Given the description of an element on the screen output the (x, y) to click on. 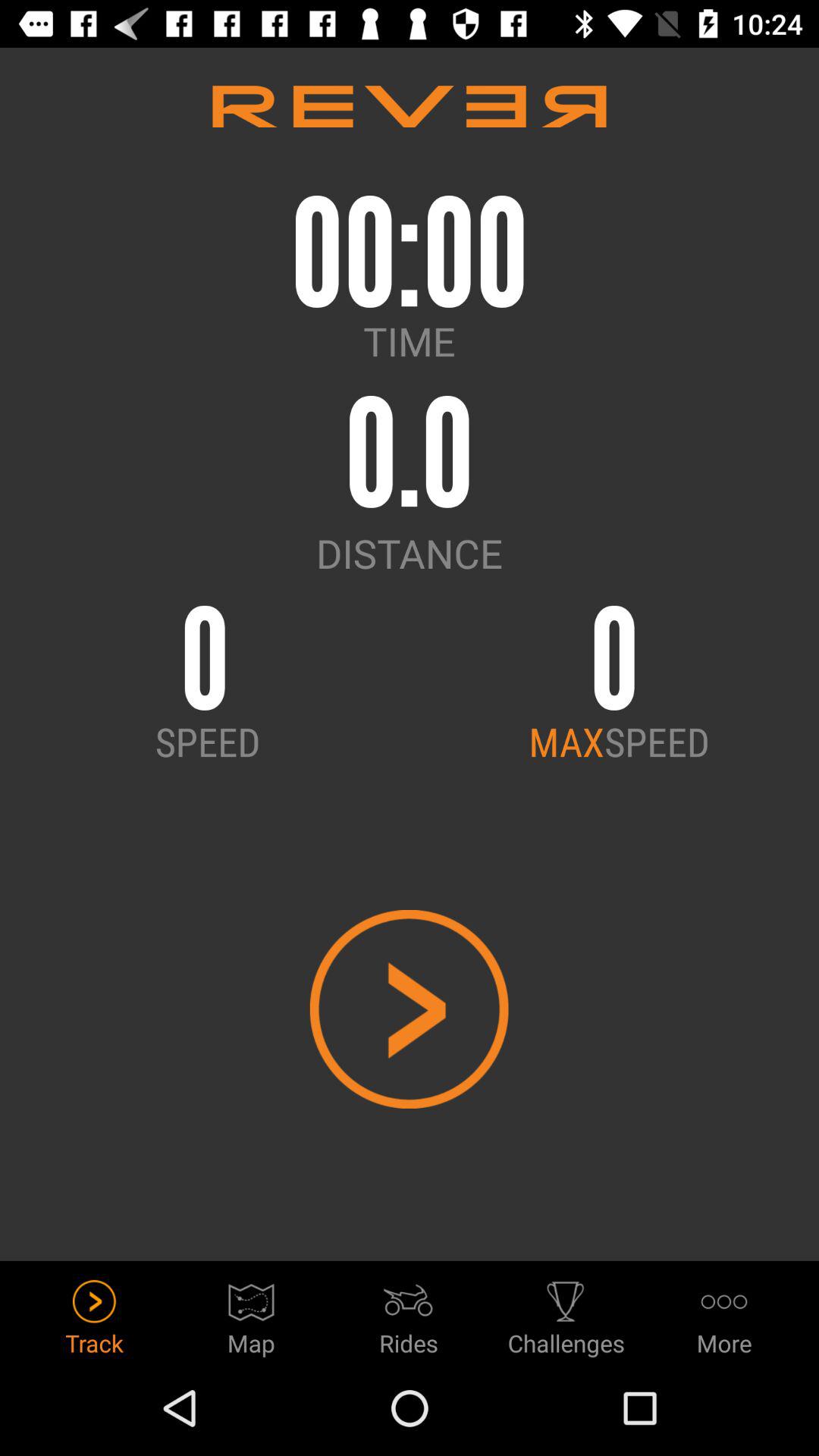
turn on item next to map icon (93, 1313)
